Given the description of an element on the screen output the (x, y) to click on. 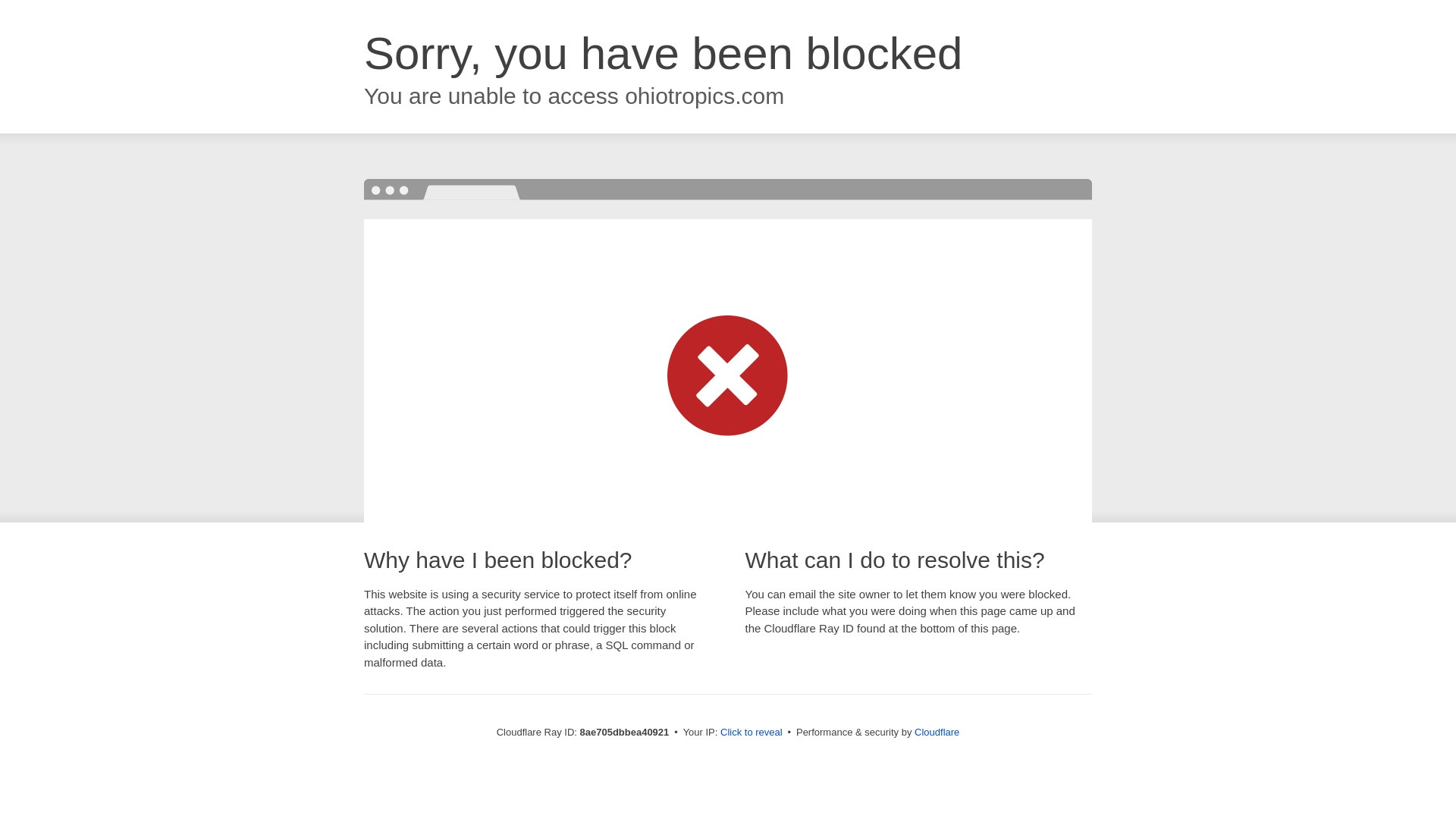
Cloudflare (936, 731)
Click to reveal (751, 732)
